Given the description of an element on the screen output the (x, y) to click on. 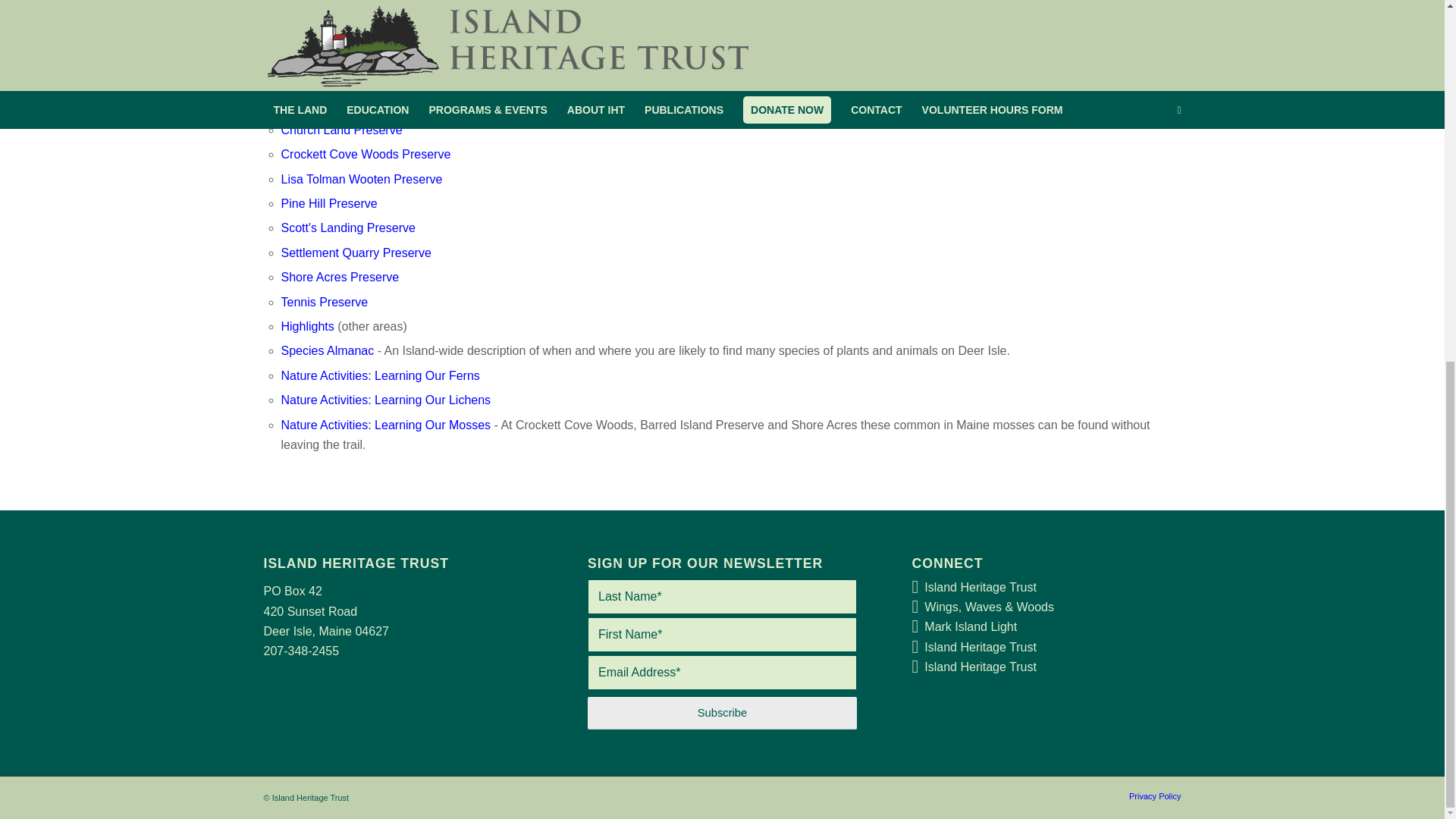
Introduction (312, 56)
Subscribe (722, 712)
